Given the description of an element on the screen output the (x, y) to click on. 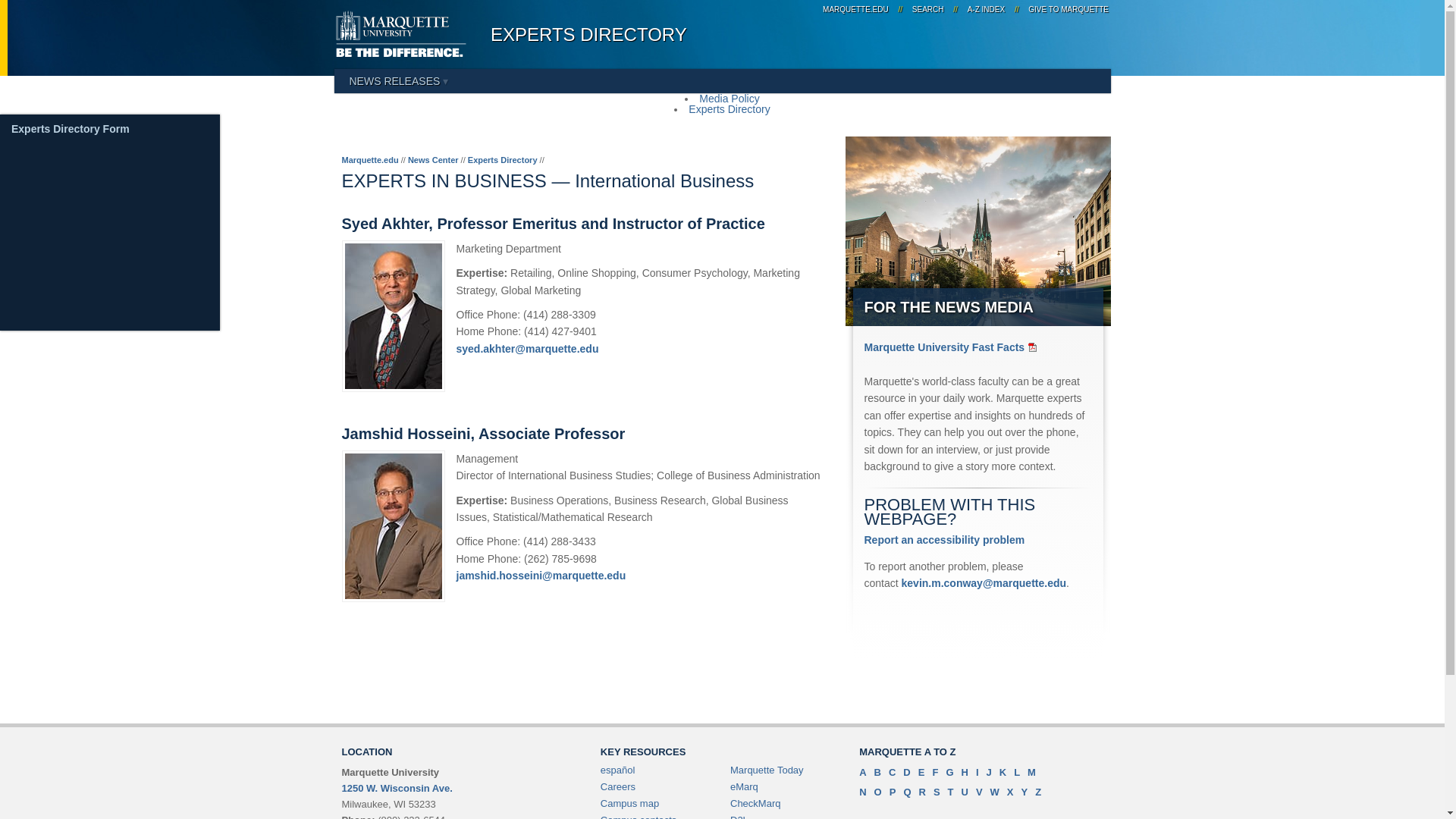
1250 W. Wisconsin Ave. (395, 787)
eMarq (744, 786)
GIVE TO MARQUETTE (1066, 8)
NEWS RELEASES (398, 80)
Media KIt (36, 130)
Marquette University Fast Facts (951, 346)
MARQUETTE.EDU (855, 8)
Experts Directory (729, 109)
News Center (432, 159)
Our Media Team (53, 119)
Marquette University Fast Facts (951, 346)
Marquette Today (766, 769)
SEARCH (927, 8)
EXPERTS DIRECTORY (588, 34)
Report an accessibility problem (944, 539)
